Given the description of an element on the screen output the (x, y) to click on. 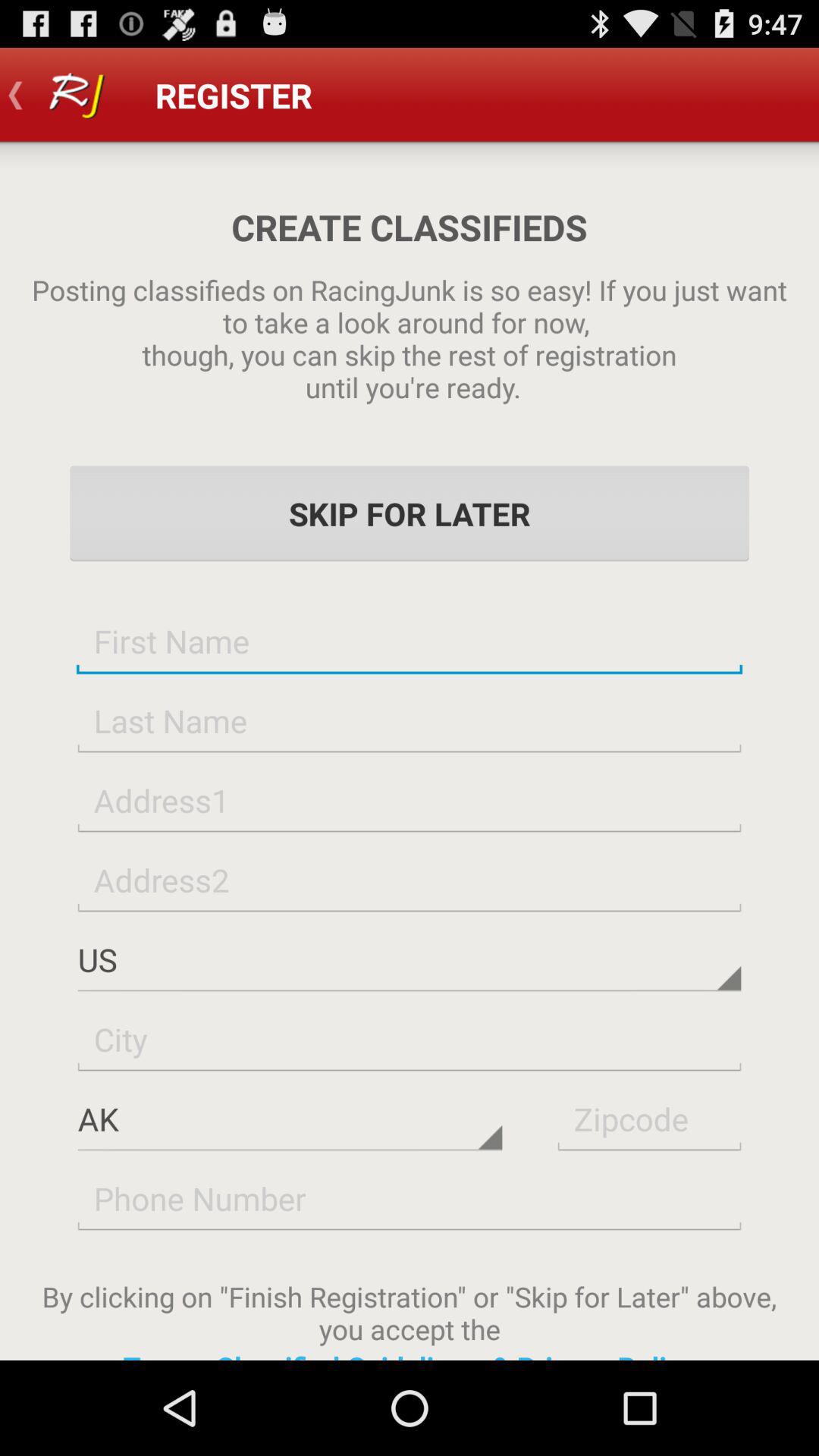
enter last name (409, 720)
